Given the description of an element on the screen output the (x, y) to click on. 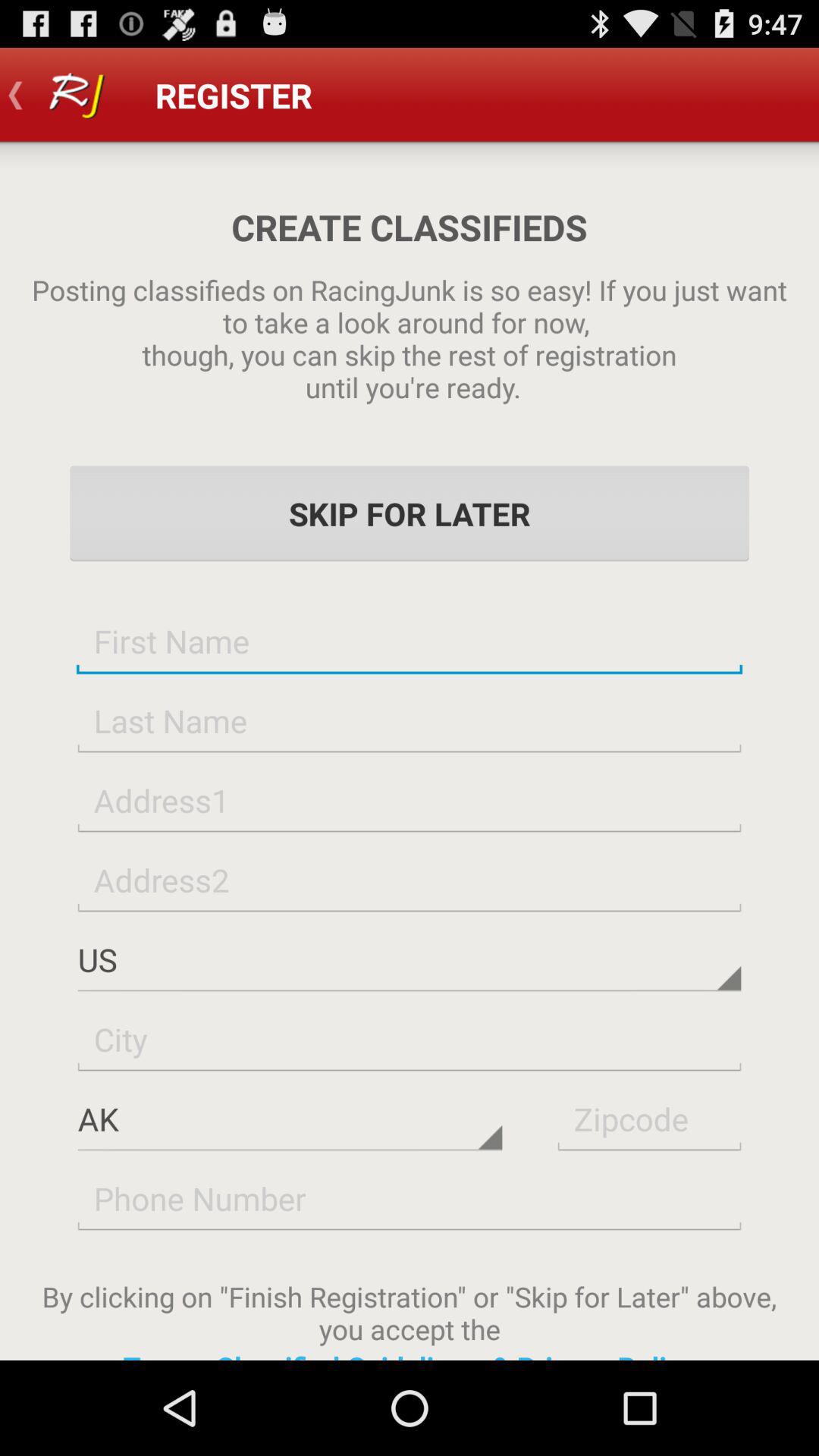
enter last name (409, 720)
